Given the description of an element on the screen output the (x, y) to click on. 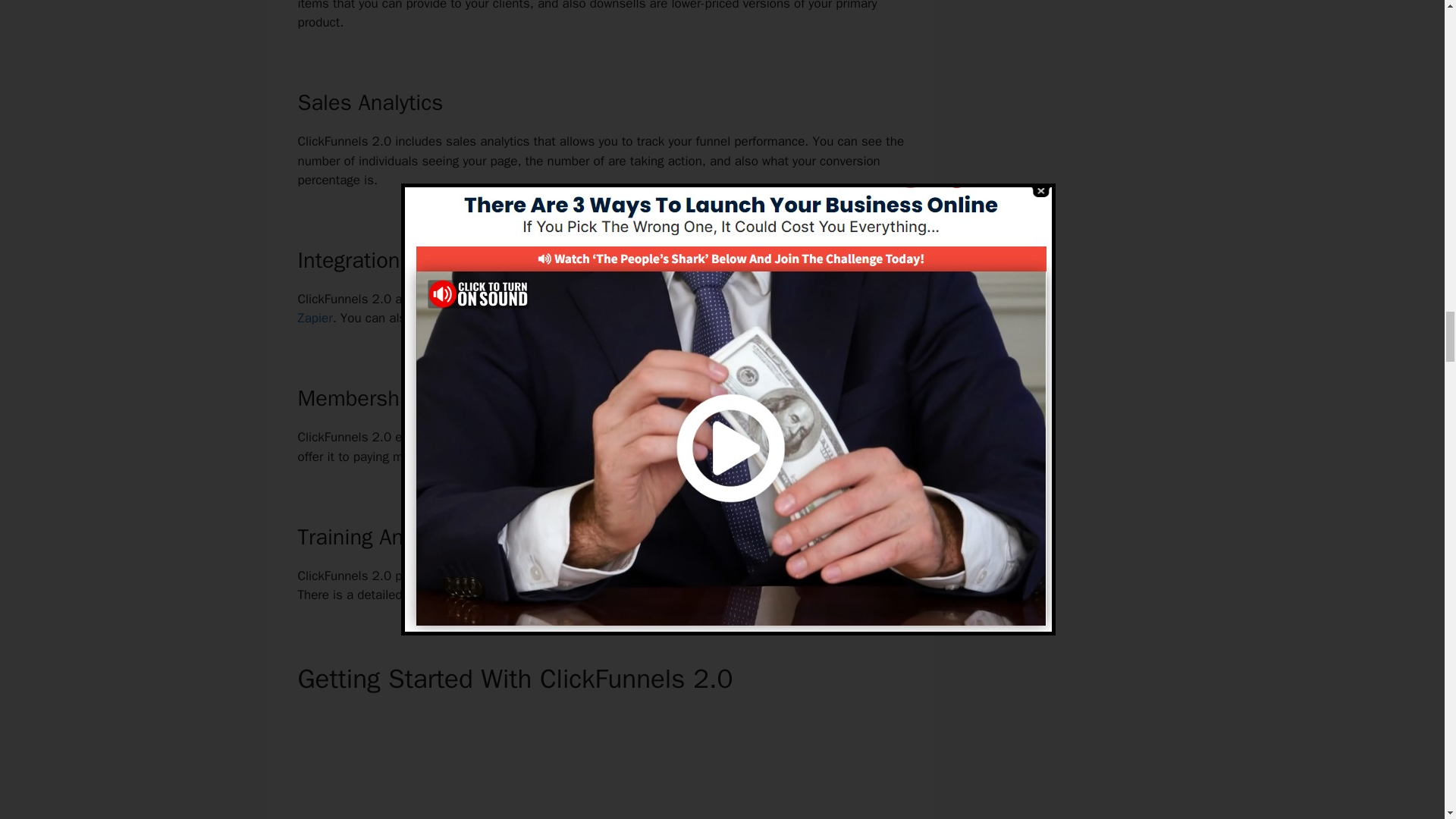
Stripe (808, 299)
assistance (547, 575)
Zapier (314, 317)
YouTube video player (596, 764)
